Given the description of an element on the screen output the (x, y) to click on. 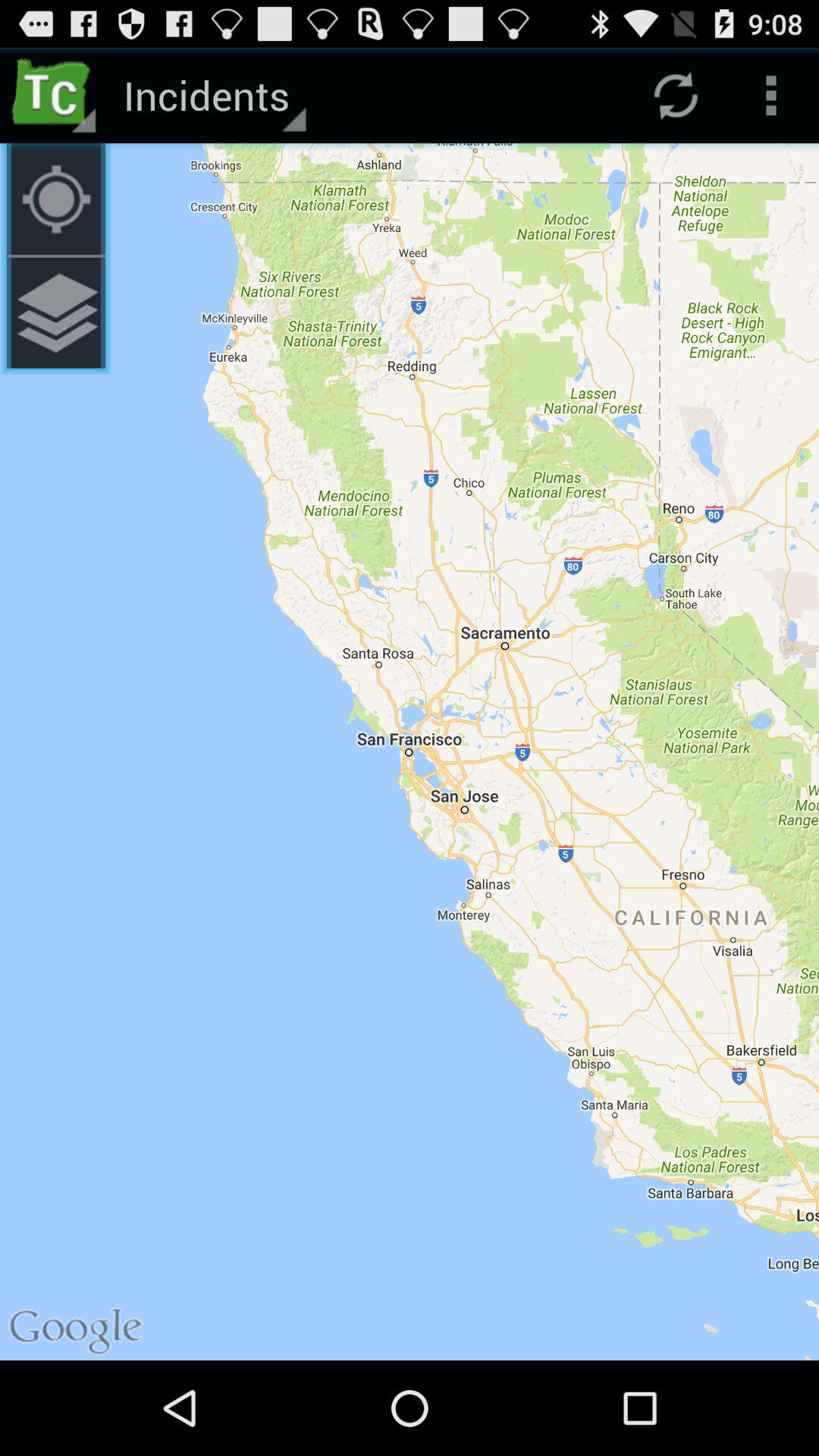
tap item at the center (409, 751)
